Given the description of an element on the screen output the (x, y) to click on. 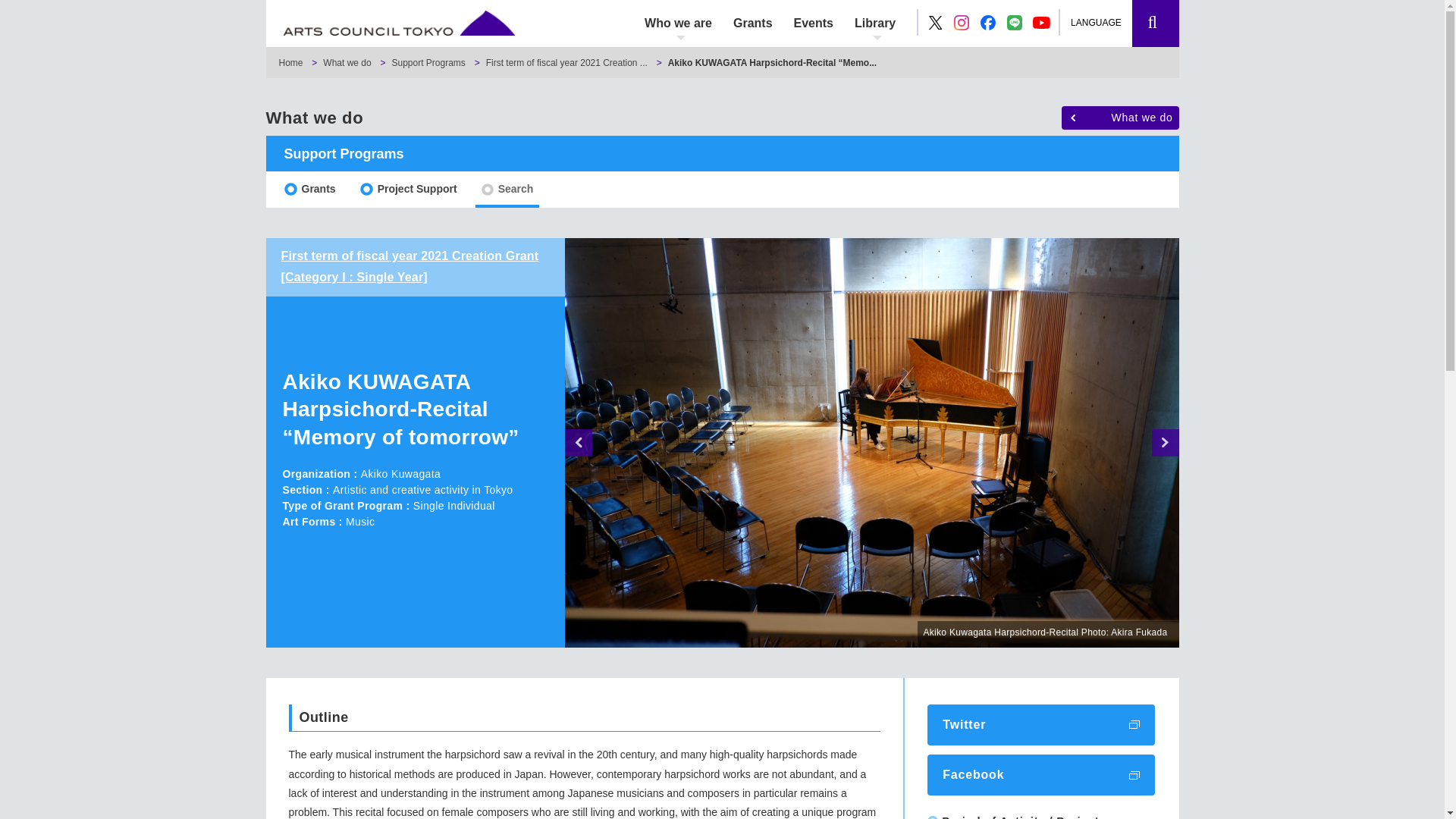
Facebook (987, 22)
LINE (1015, 22)
LANGUAGE (1102, 22)
Who we are (678, 23)
LINE (1014, 22)
Facebook (987, 22)
Instagram (961, 22)
Instagram (961, 22)
X (935, 22)
YouTube (1040, 22)
YouTube (1041, 22)
X (935, 21)
